Given the description of an element on the screen output the (x, y) to click on. 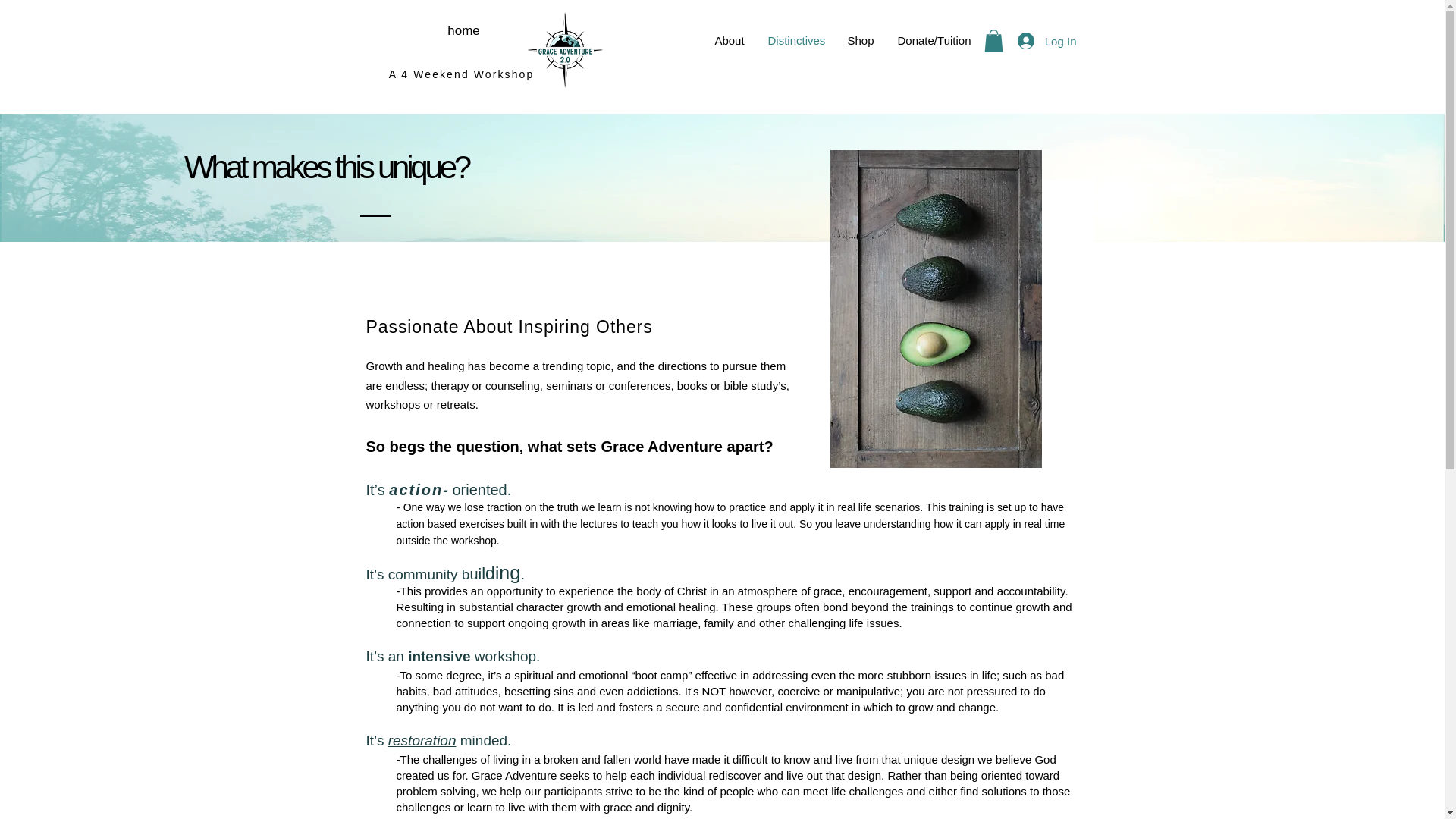
logo final.jpg (563, 49)
Log In (1047, 40)
Distinctives (796, 40)
Shop (859, 40)
About (728, 40)
home (463, 30)
A 4 Weekend Workshop (461, 73)
